Given the description of an element on the screen output the (x, y) to click on. 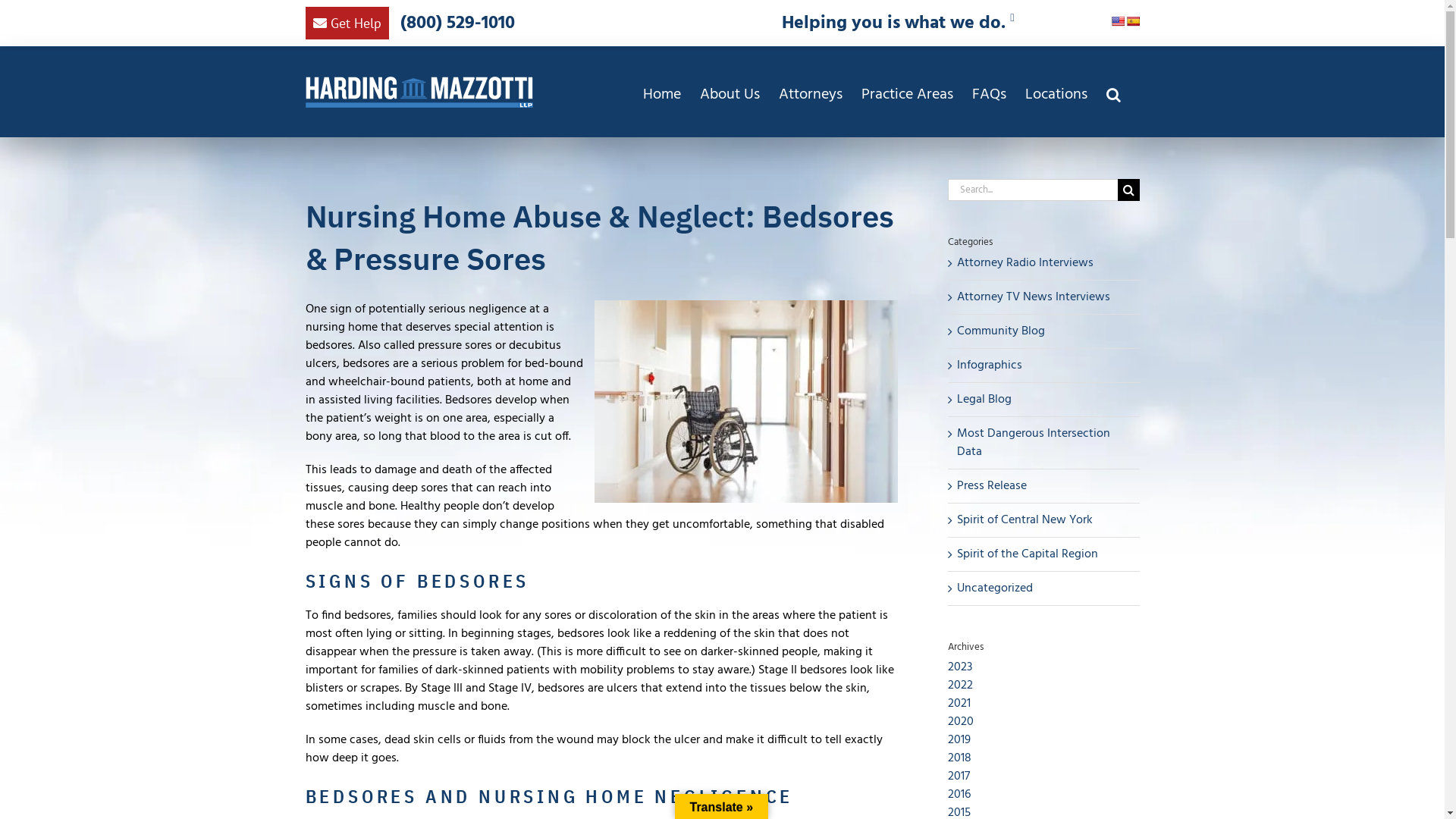
Get Help Element type: text (346, 22)
Spirit of Central New York Element type: text (1044, 520)
Attorney Radio Interviews Element type: text (1044, 262)
2016 Element type: text (958, 794)
2021 Element type: text (958, 703)
Press Release Element type: text (1044, 485)
Attorneys Element type: text (809, 93)
Attorney TV News Interviews Element type: text (1044, 297)
Spirit of the Capital Region Element type: text (1044, 553)
Nursing Home Abuse & Neglect Element type: hover (745, 401)
FAQs Element type: text (989, 93)
2022 Element type: text (959, 685)
Community Blog Element type: text (1044, 330)
Infographics Element type: text (1044, 365)
About Us Element type: text (729, 93)
Practice Areas Element type: text (907, 93)
Home Element type: text (661, 93)
2017 Element type: text (958, 776)
2019 Element type: text (958, 739)
Get Help Element type: text (346, 25)
English Element type: hover (1117, 21)
Spanish Element type: hover (1132, 21)
Locations Element type: text (1056, 93)
2023 Element type: text (959, 667)
2020 Element type: text (960, 721)
Legal Blog Element type: text (1044, 398)
2018 Element type: text (959, 758)
Most Dangerous Intersection Data Element type: text (1044, 442)
Search Element type: hover (1112, 93)
(800) 529-1010 Element type: text (457, 23)
Uncategorized Element type: text (1044, 588)
